Given the description of an element on the screen output the (x, y) to click on. 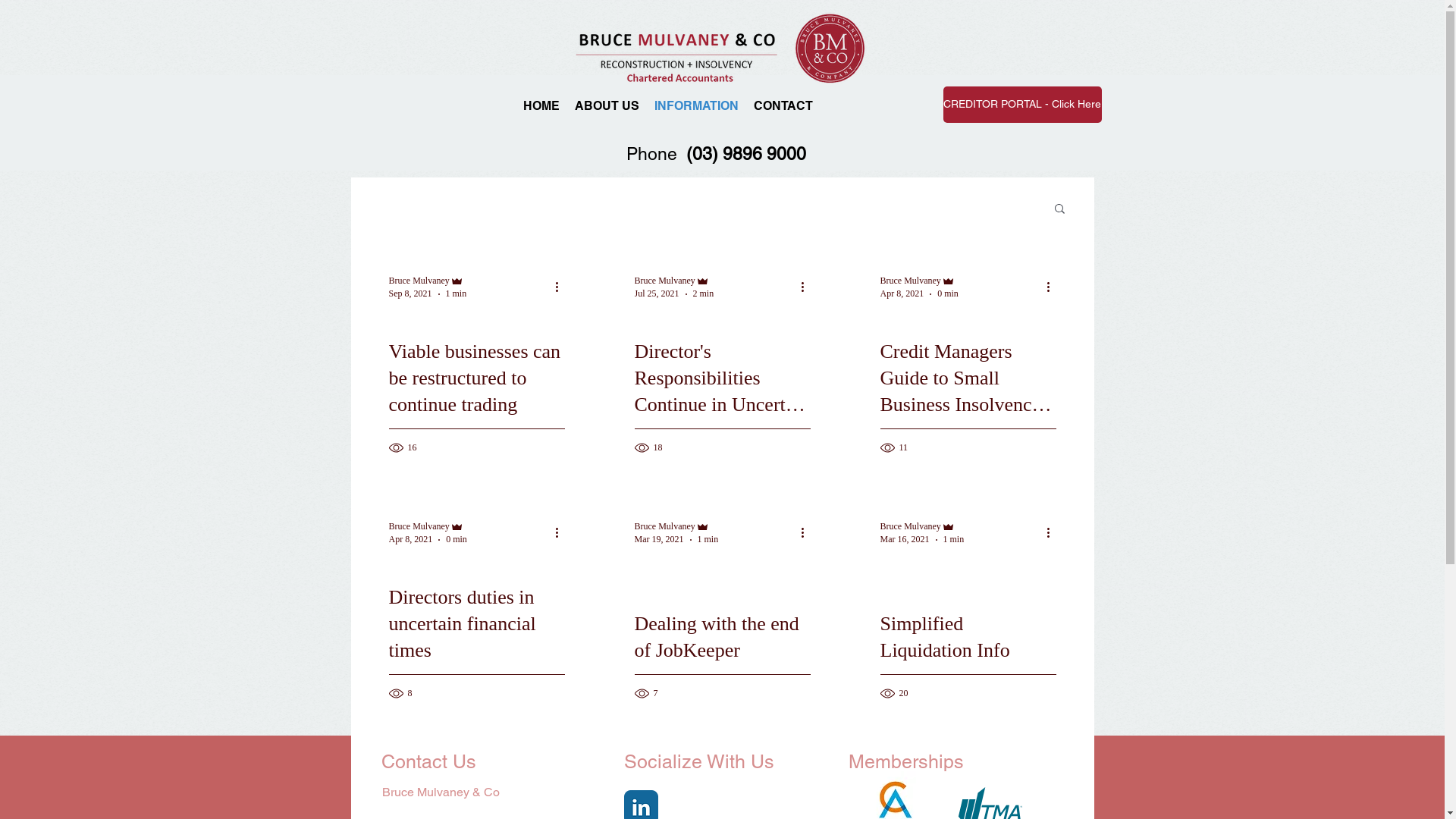
CONTACT Element type: text (783, 104)
Credit Managers Guide to Small Business Insolvency Reforms Element type: text (967, 395)
Director's Responsibilities Continue in Uncertain Times Element type: text (721, 395)
Directors duties in uncertain financial times Element type: text (476, 641)
Dealing with the end of JobKeeper Element type: text (721, 654)
ABOUT US Element type: text (606, 104)
INFORMATION Element type: text (695, 104)
Simplified Liquidation Info Element type: text (967, 654)
HOME Element type: text (541, 104)
CREDITOR PORTAL - Click Here Element type: text (1022, 104)
Viable businesses can be restructured to continue trading Element type: text (476, 395)
